Given the description of an element on the screen output the (x, y) to click on. 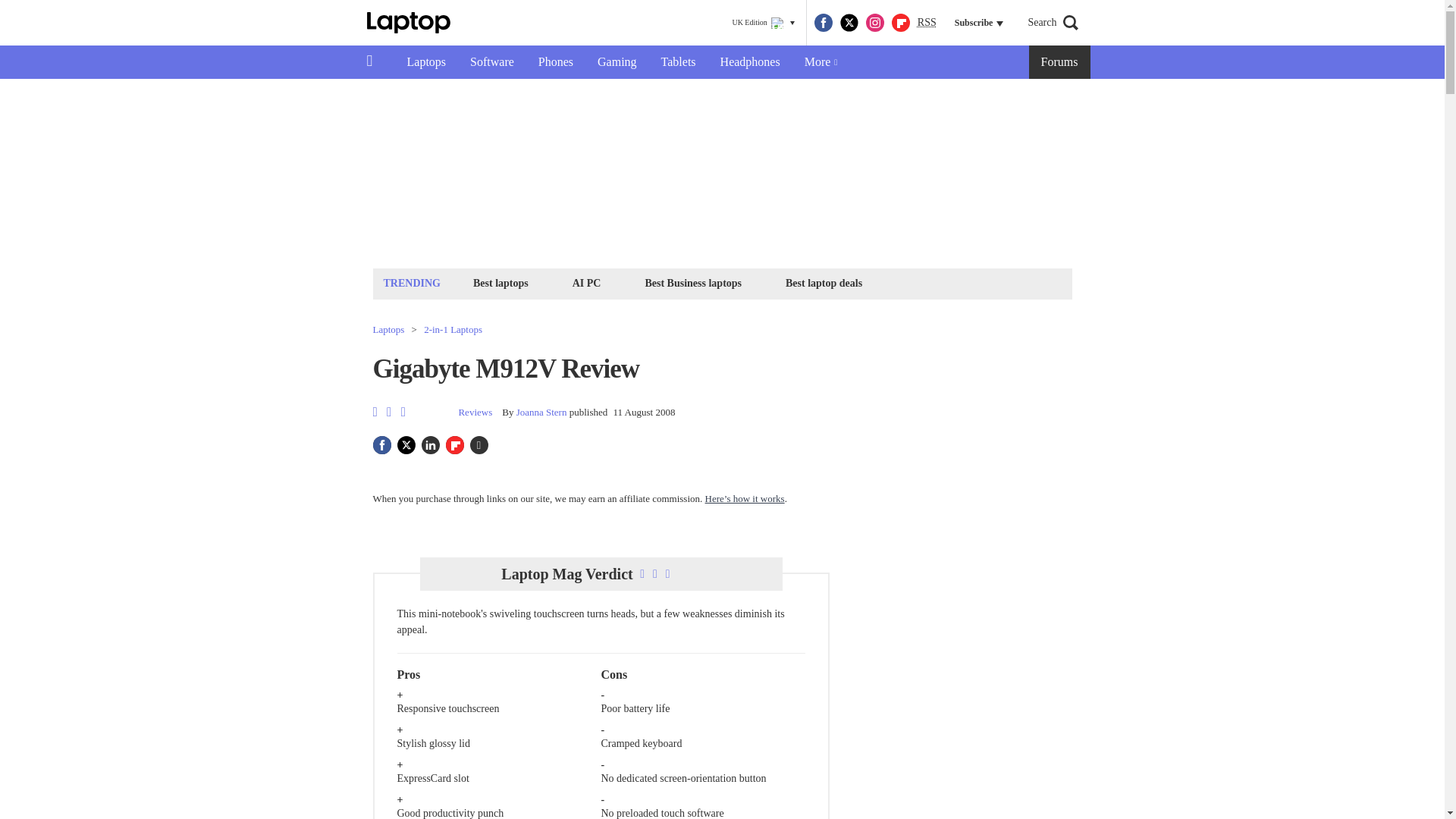
Headphones (749, 61)
Laptops (426, 61)
Best Business laptops (692, 282)
Best laptop deals (823, 282)
Phones (555, 61)
Really Simple Syndication (926, 21)
Forums (1059, 61)
AI PC (587, 282)
Gaming (617, 61)
Tablets (678, 61)
